Given the description of an element on the screen output the (x, y) to click on. 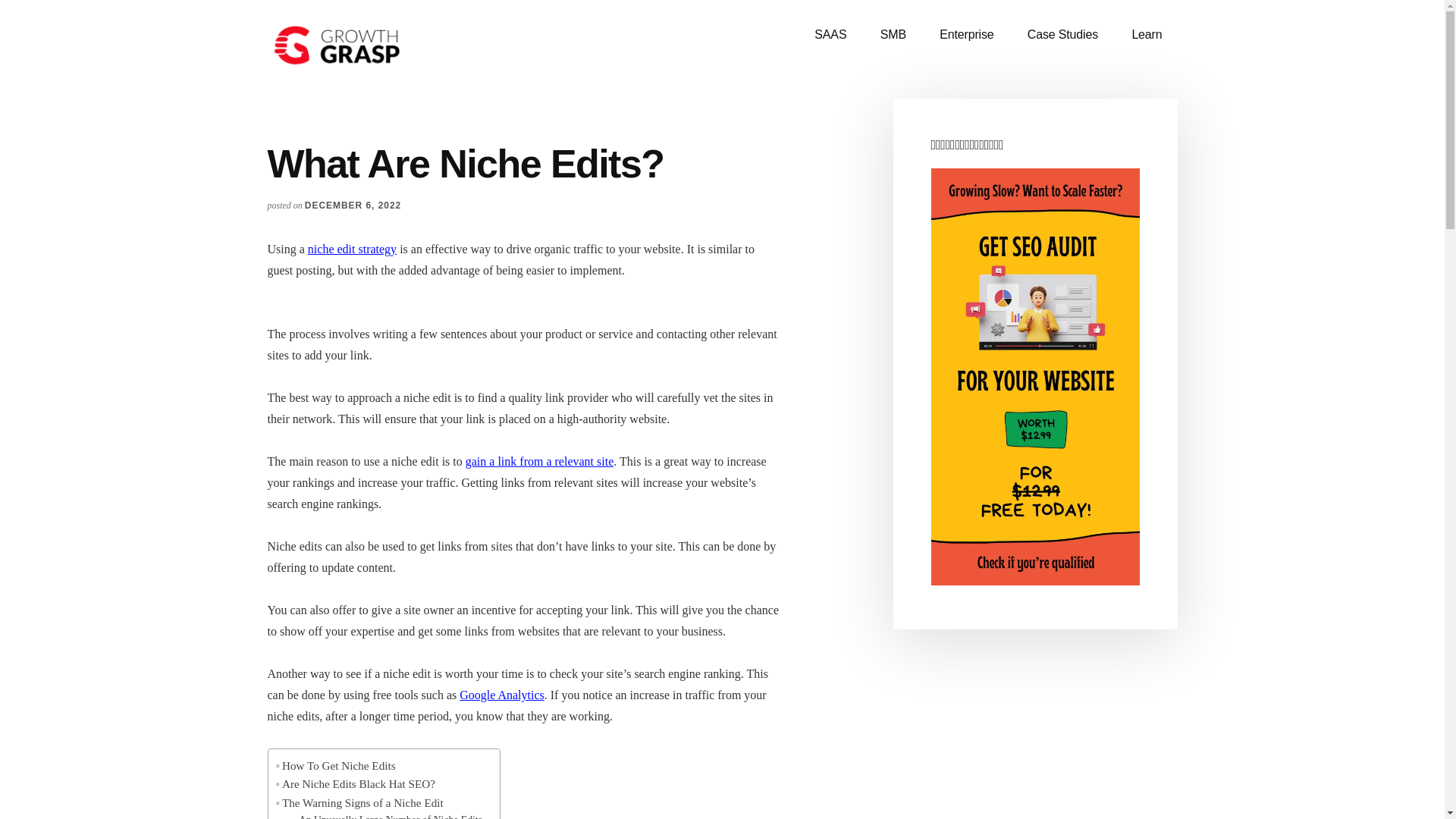
How To Get Niche Edits (336, 765)
Are Niche Edits Black Hat SEO? (355, 783)
The Warning Signs of a Niche Edit (360, 802)
SAAS (830, 34)
Enterprise (966, 34)
The Warning Signs of a Niche Edit (360, 802)
Google Analytics (502, 694)
gain a link from a relevant site (538, 461)
Growth Grasp (380, 45)
An Unusually Large Number of Niche Edits  (388, 815)
niche edit strategy (351, 248)
Are Niche Edits Black Hat SEO? (355, 783)
Learn (1146, 34)
